Given the description of an element on the screen output the (x, y) to click on. 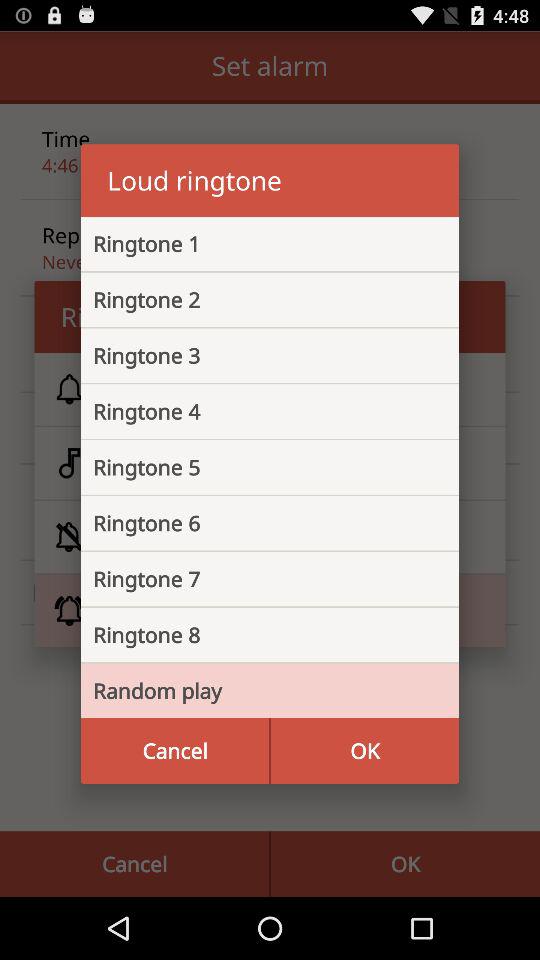
click random play app (254, 690)
